Given the description of an element on the screen output the (x, y) to click on. 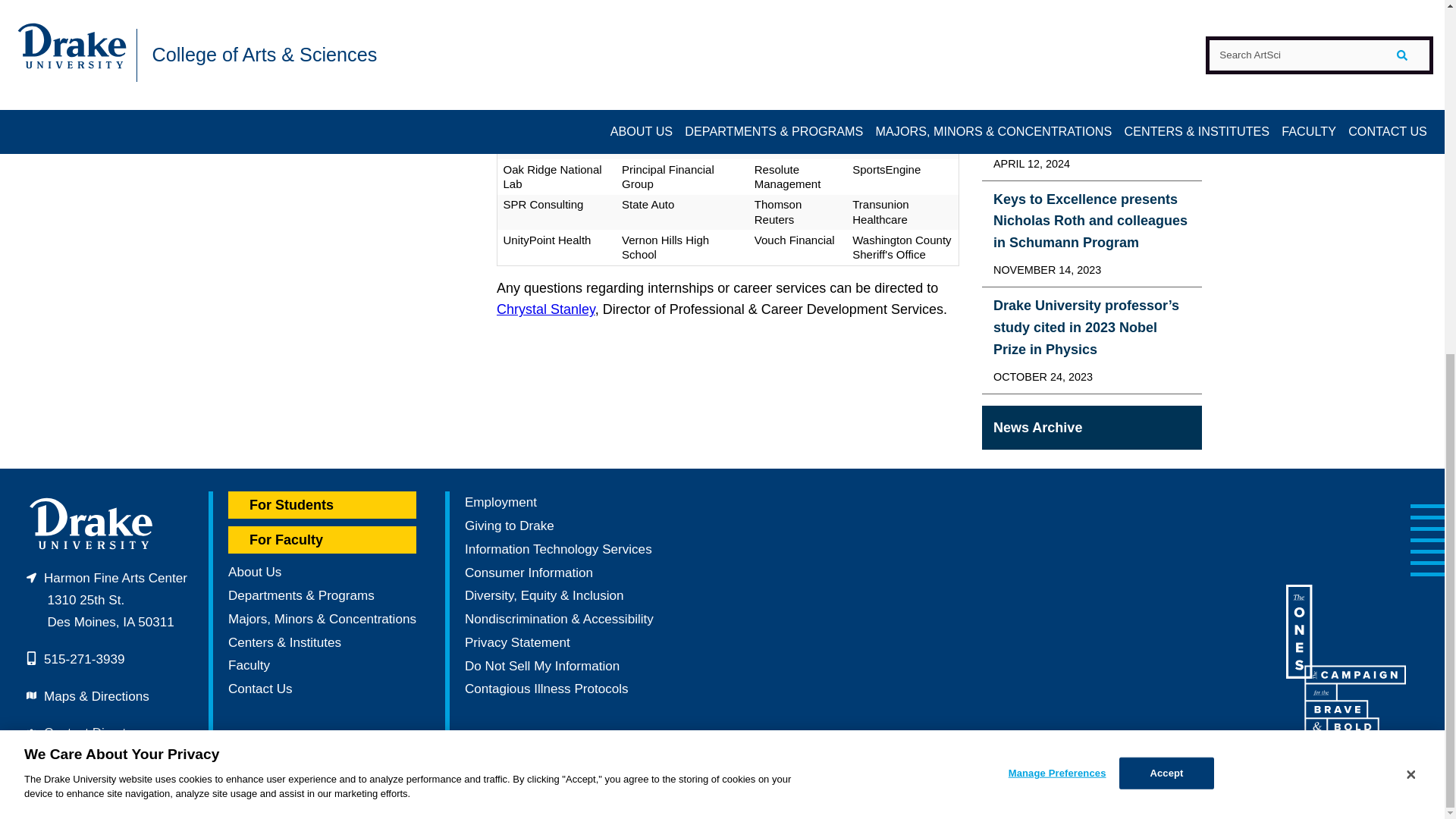
2847 University Ave (106, 599)
Public Safety (81, 769)
Contact Directory (93, 732)
Make a financial contribution to Drake University (509, 525)
